Given the description of an element on the screen output the (x, y) to click on. 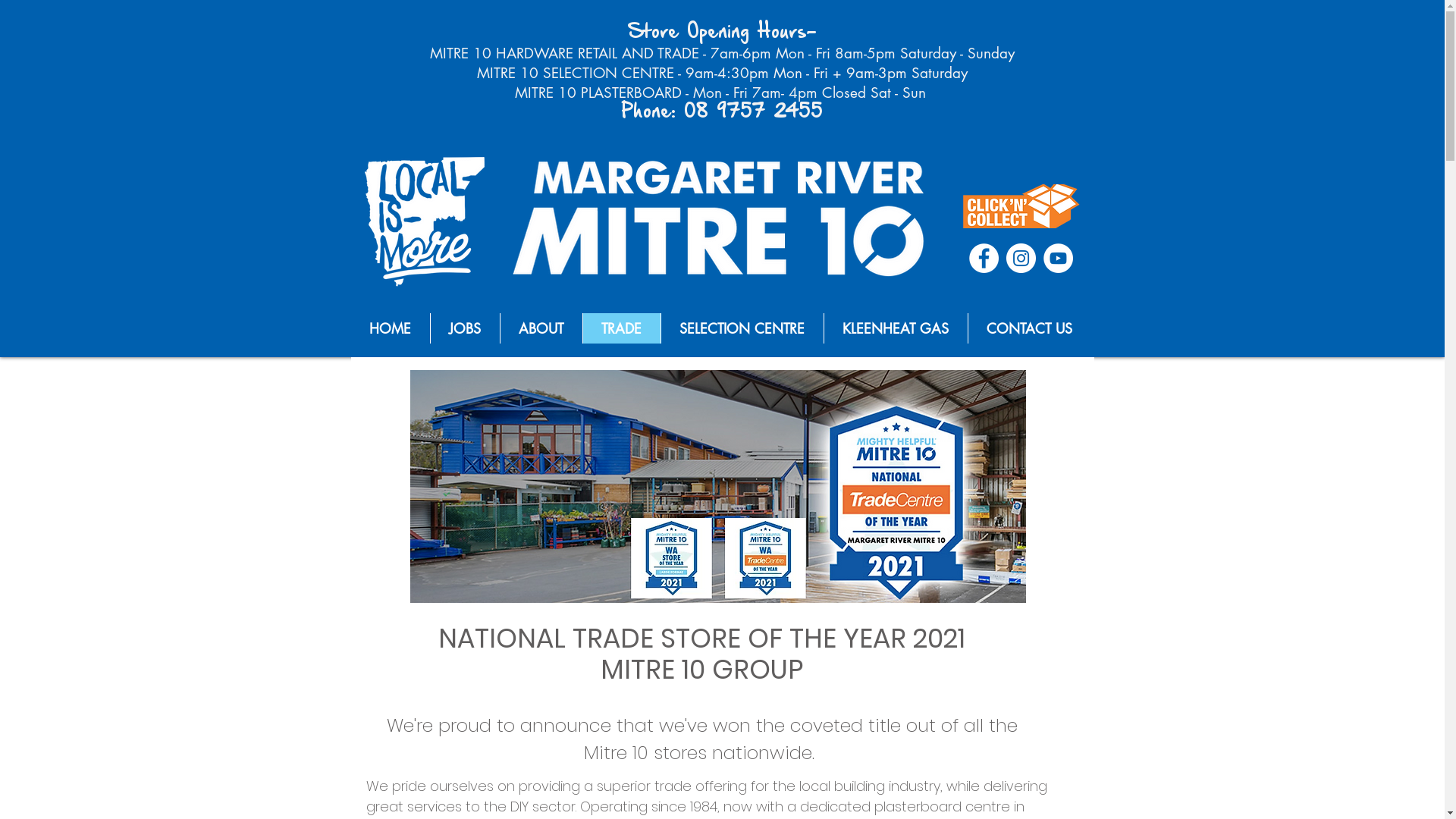
HOME Element type: text (389, 328)
ABOUT Element type: text (539, 328)
SELECTION CENTRE Element type: text (740, 328)
CONTACT US Element type: text (1028, 328)
JOBS Element type: text (463, 328)
KLEENHEAT GAS Element type: text (895, 328)
TRADE Element type: text (621, 328)
